Given the description of an element on the screen output the (x, y) to click on. 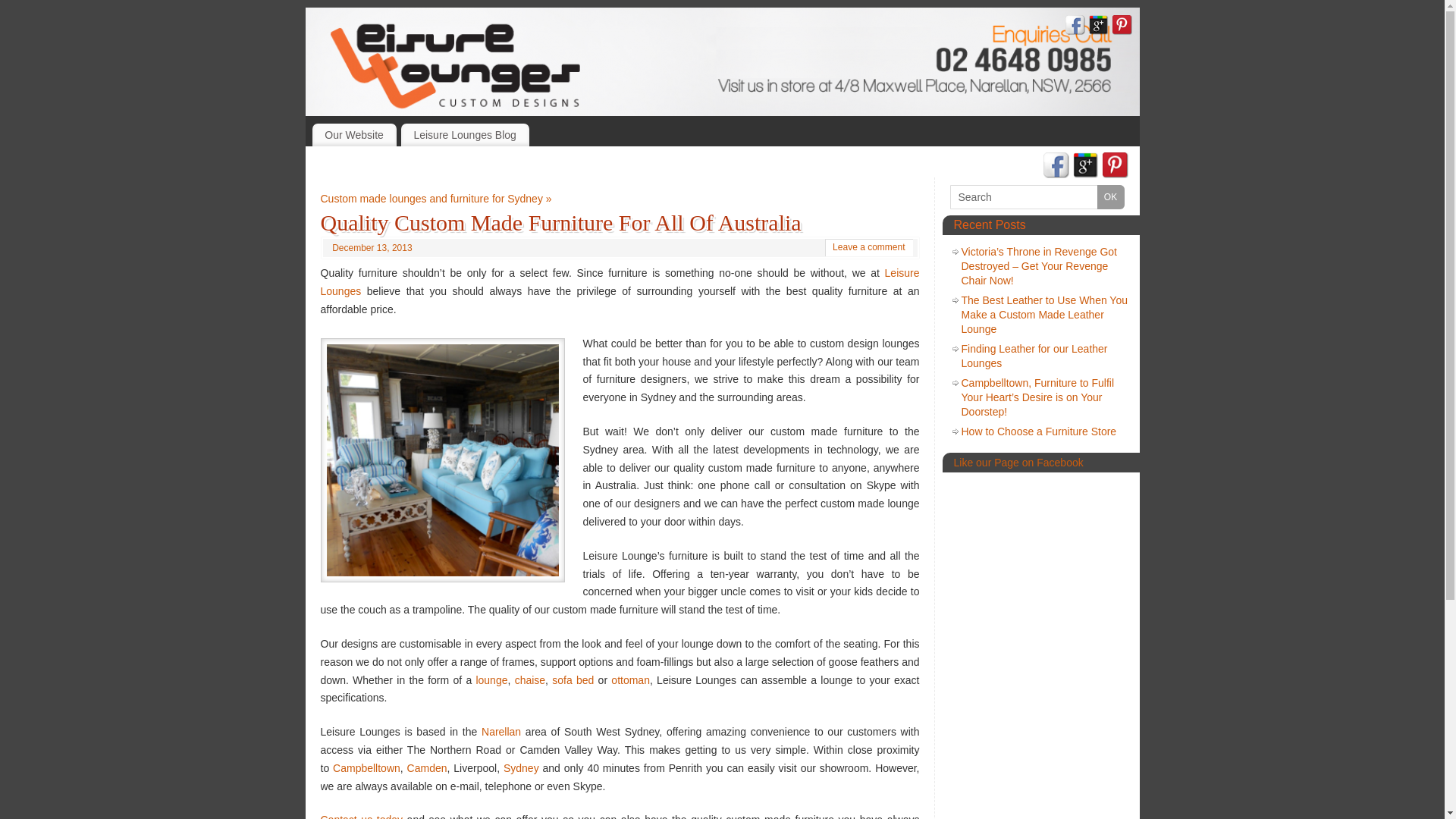
blue lounge arrangement Element type: hover (442, 460)
sofa bed Element type: text (572, 680)
Facebook Element type: hover (1074, 26)
How to Choose a Furniture Store Element type: text (1039, 431)
Leisure Lounges Blog Element type: text (465, 134)
OK Element type: text (1109, 197)
chaise Element type: text (529, 680)
ottoman Element type: text (630, 680)
Narellan Element type: text (500, 731)
Pinterest Element type: hover (1115, 167)
Pinterest Element type: hover (1121, 26)
Camden Element type: text (427, 768)
December 13, 2013 Element type: text (371, 247)
Our Website Element type: text (354, 134)
Campbelltown Element type: text (366, 768)
Like our Page on Facebook Element type: text (1018, 462)
lounge Element type: text (491, 680)
GooglePlus Element type: hover (1098, 26)
Leave a comment Element type: text (868, 246)
Sydney Element type: text (521, 768)
Finding Leather for our Leather Lounges Element type: text (1034, 355)
Facebook Element type: hover (1056, 167)
GooglePlus Element type: hover (1085, 167)
Quality Custom Made Furniture For All Of Australia Element type: text (560, 222)
Leisure Lounges Element type: text (619, 281)
